Given the description of an element on the screen output the (x, y) to click on. 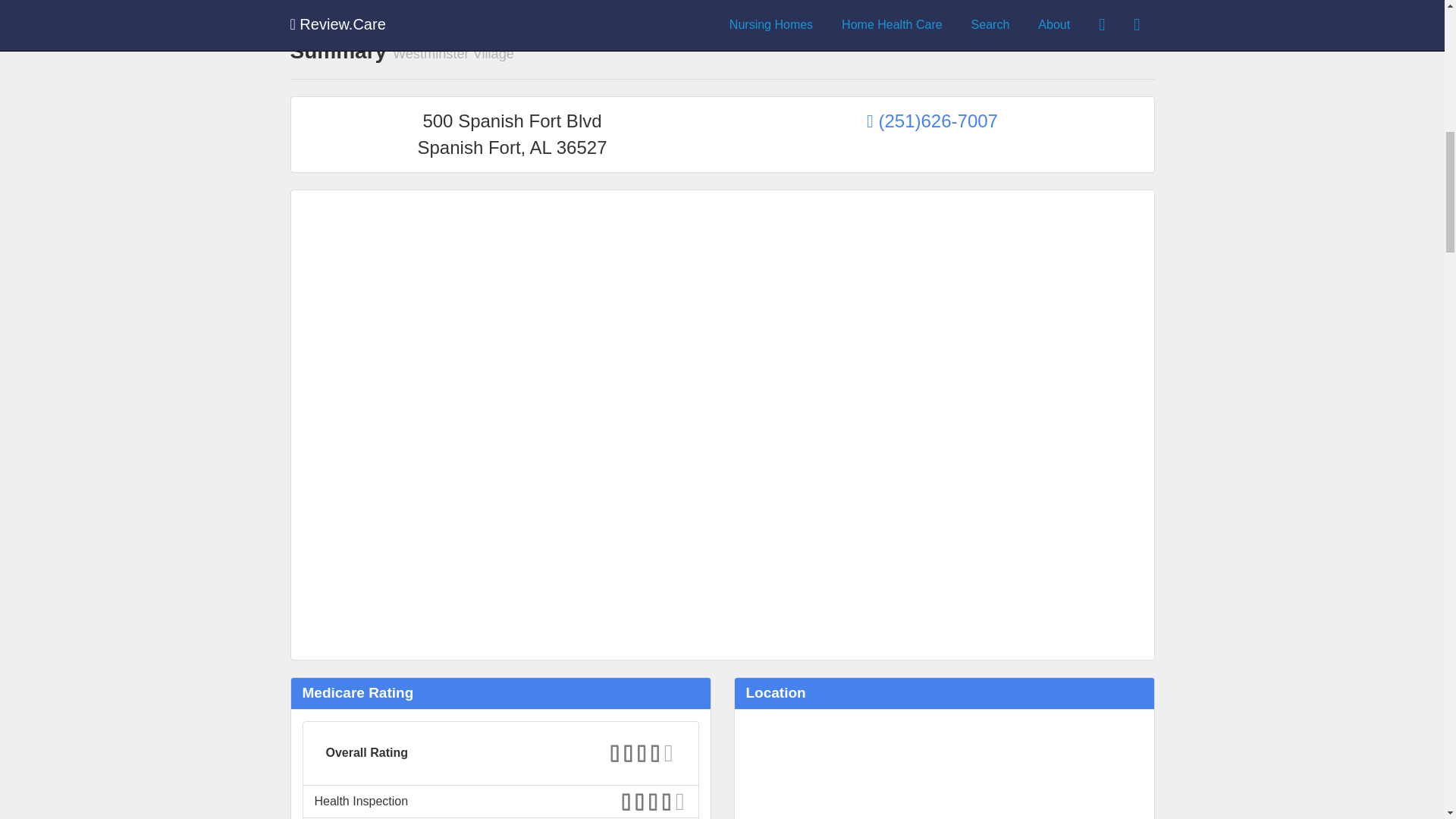
Advertisement (932, 528)
Advertisement (512, 528)
